Given the description of an element on the screen output the (x, y) to click on. 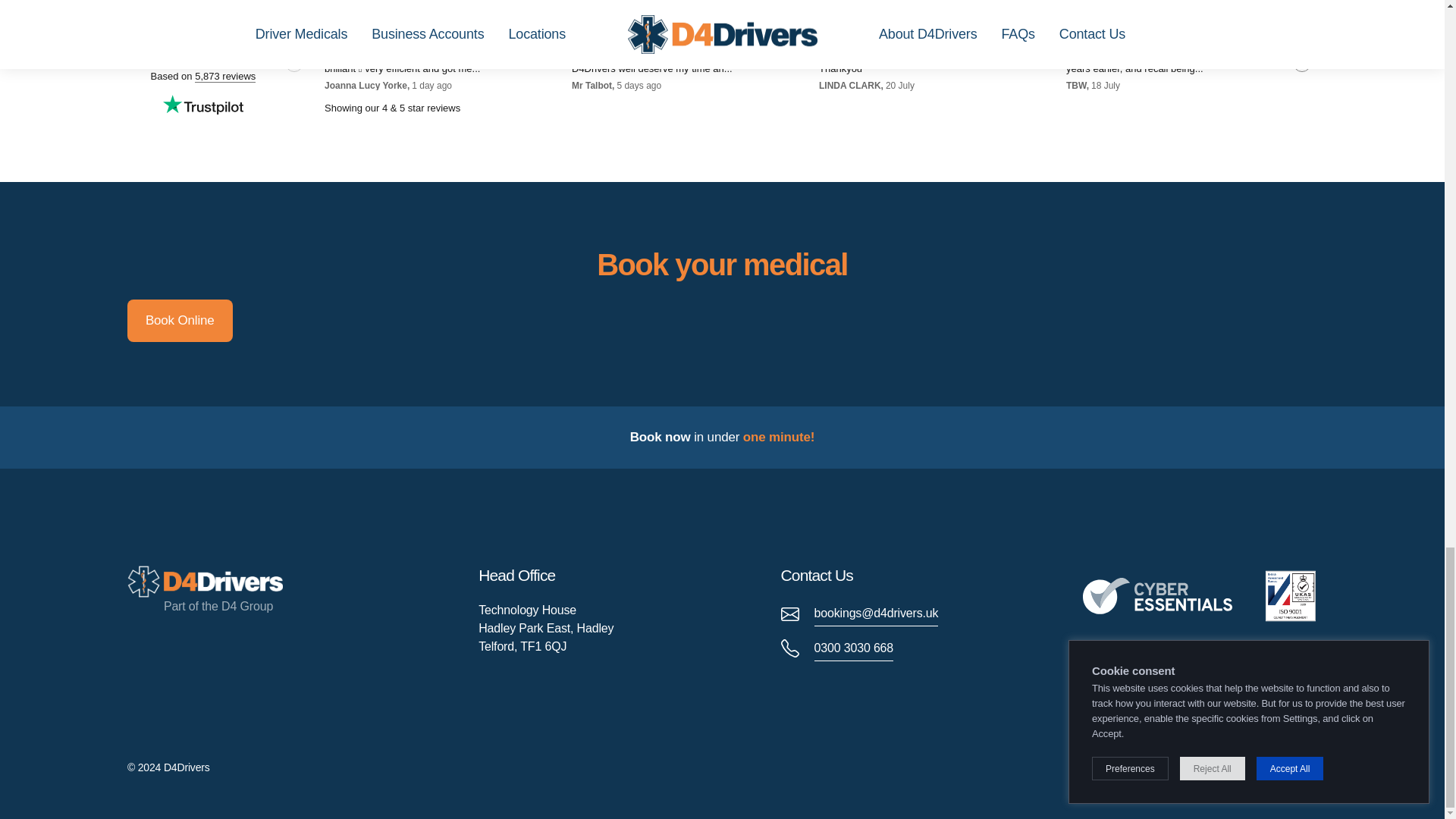
Book now (660, 436)
Policies (1151, 770)
Customer reviews powered by Trustpilot (722, 64)
0300 3030 668 (836, 648)
Book Online (180, 320)
